Given the description of an element on the screen output the (x, y) to click on. 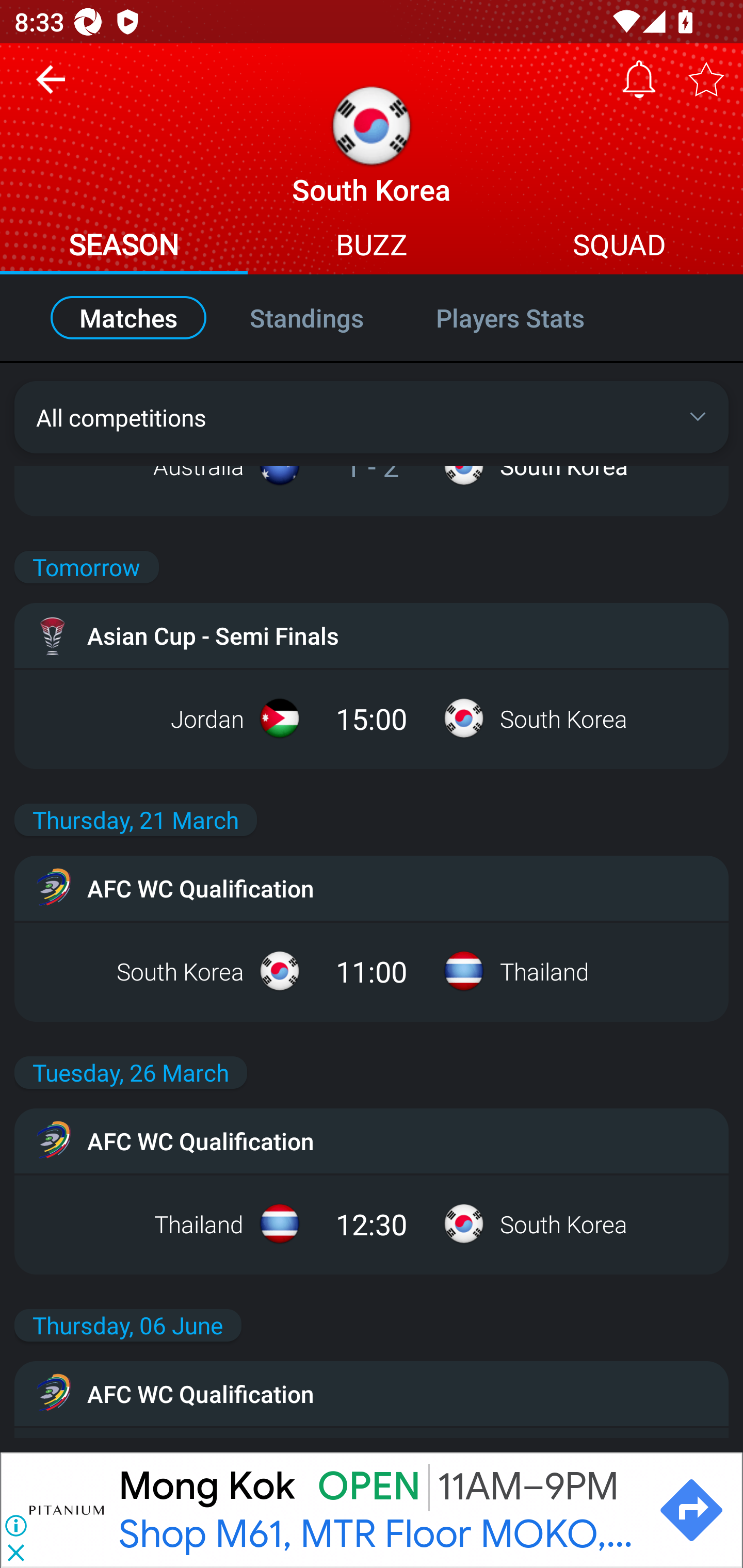
Navigate up (50, 86)
SEASON (123, 246)
BUZZ (371, 246)
SQUAD (619, 246)
Standings (306, 317)
Players Stats (531, 317)
All competitions (371, 417)
Asian Cup - Semi Finals (371, 635)
Jordan 15:00 South Korea (371, 717)
AFC WC Qualification (371, 888)
South Korea 11:00 Thailand (371, 971)
AFC WC Qualification (371, 1140)
Thailand 12:30 South Korea (371, 1223)
AFC WC Qualification (371, 1393)
超瘋狂預購 48小時 Pitanium MOKO Pitanium MOKO (379, 1509)
